Given the description of an element on the screen output the (x, y) to click on. 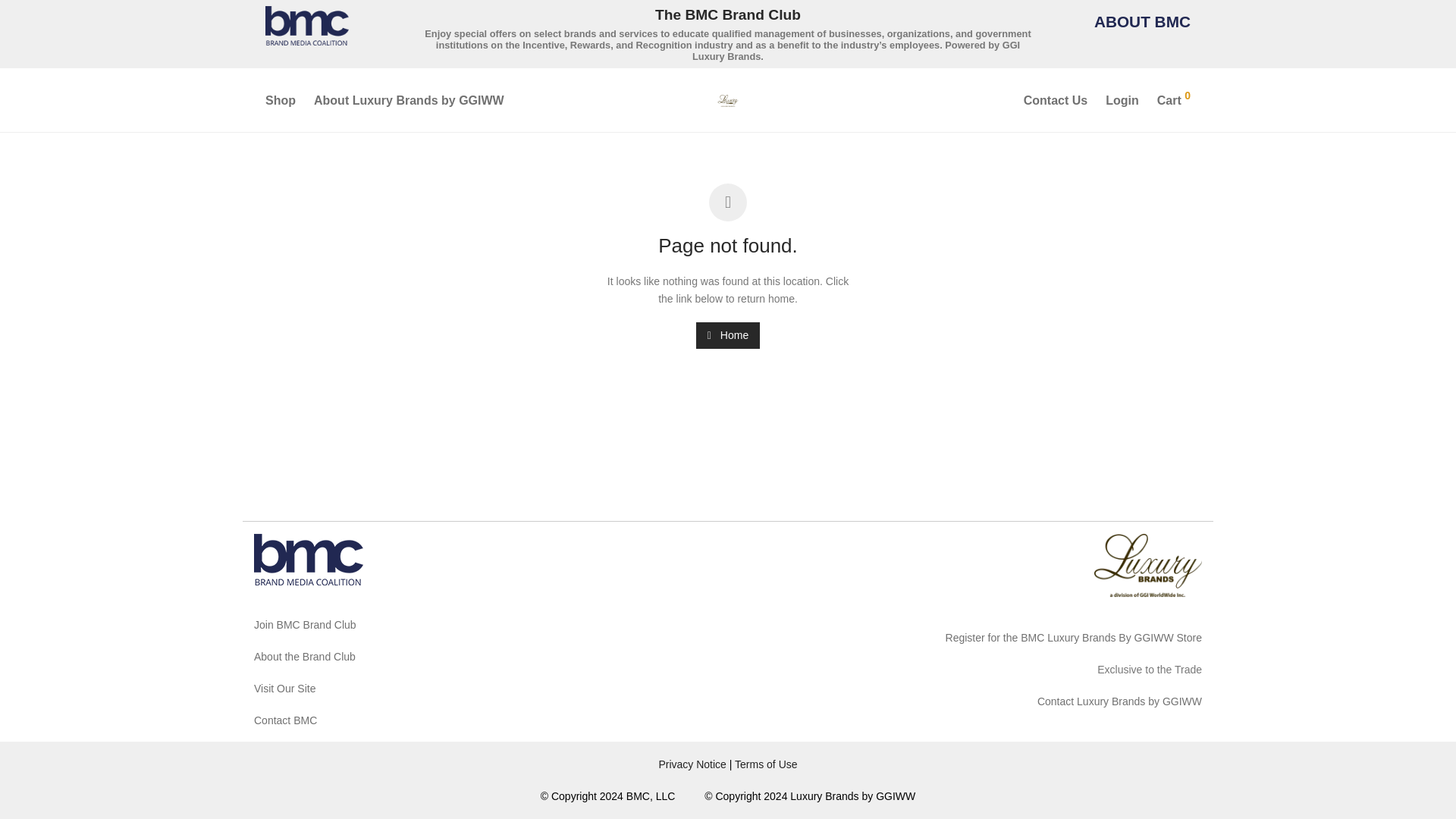
Join BMC Brand Club (304, 624)
Cart 0 (1173, 100)
Home (727, 335)
Contact Luxury Brands by GGIWW (1119, 701)
Privacy Notice (691, 764)
Login (1122, 100)
About Luxury Brands by GGIWW (408, 100)
Visit Our Site (284, 688)
Contact Us (1055, 100)
About the Brand Club (304, 656)
Register for the BMC Luxury Brands By GGIWW Store (1073, 637)
Contact BMC (285, 720)
Shop (280, 100)
Terms of Use (765, 764)
ABOUT BMC (1142, 21)
